Given the description of an element on the screen output the (x, y) to click on. 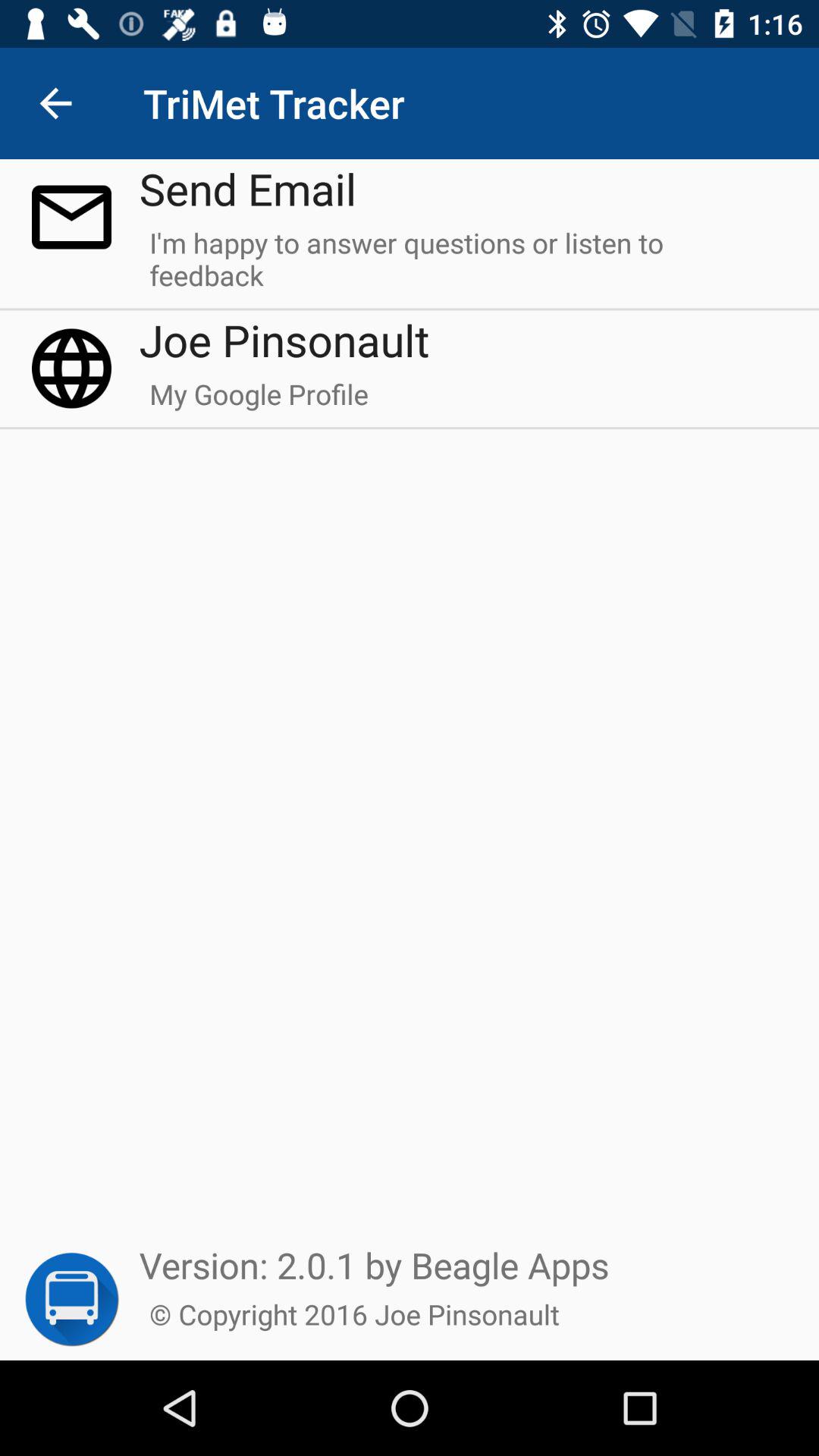
click item below the trimet tracker icon (247, 188)
